Given the description of an element on the screen output the (x, y) to click on. 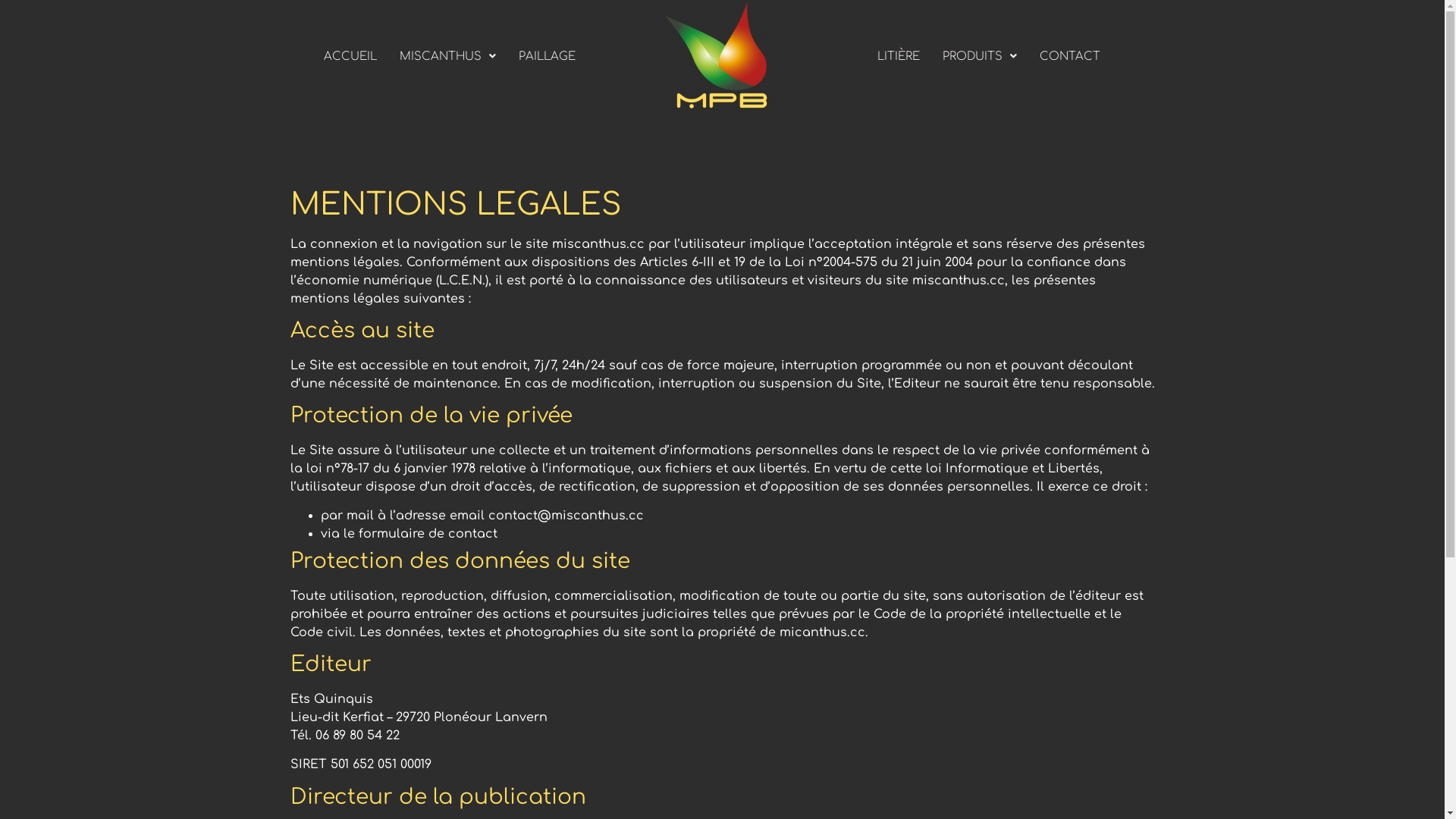
ACCUEIL Element type: text (350, 56)
PAILLAGE Element type: text (546, 56)
CONTACT Element type: text (1069, 56)
PRODUITS Element type: text (979, 56)
MISCANTHUS Element type: text (447, 56)
